Given the description of an element on the screen output the (x, y) to click on. 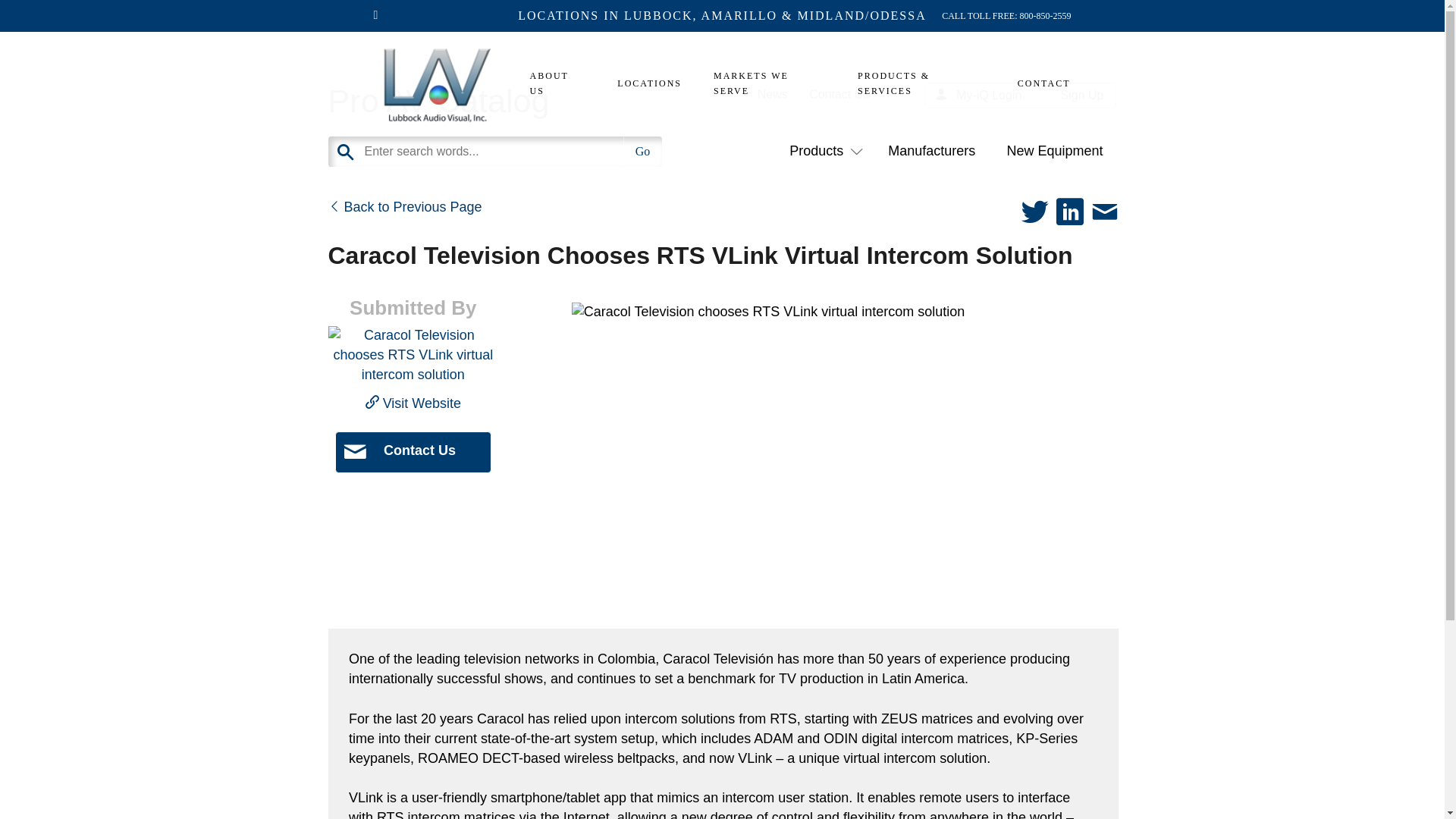
CALL TOLL FREE: 800-850-2559 (1006, 15)
Enter search words... (531, 151)
ABOUT US (558, 82)
LOCATIONS (649, 83)
CONTACT (1036, 83)
Go (642, 151)
MARKETS WE SERVE (769, 82)
Go (642, 151)
